Given the description of an element on the screen output the (x, y) to click on. 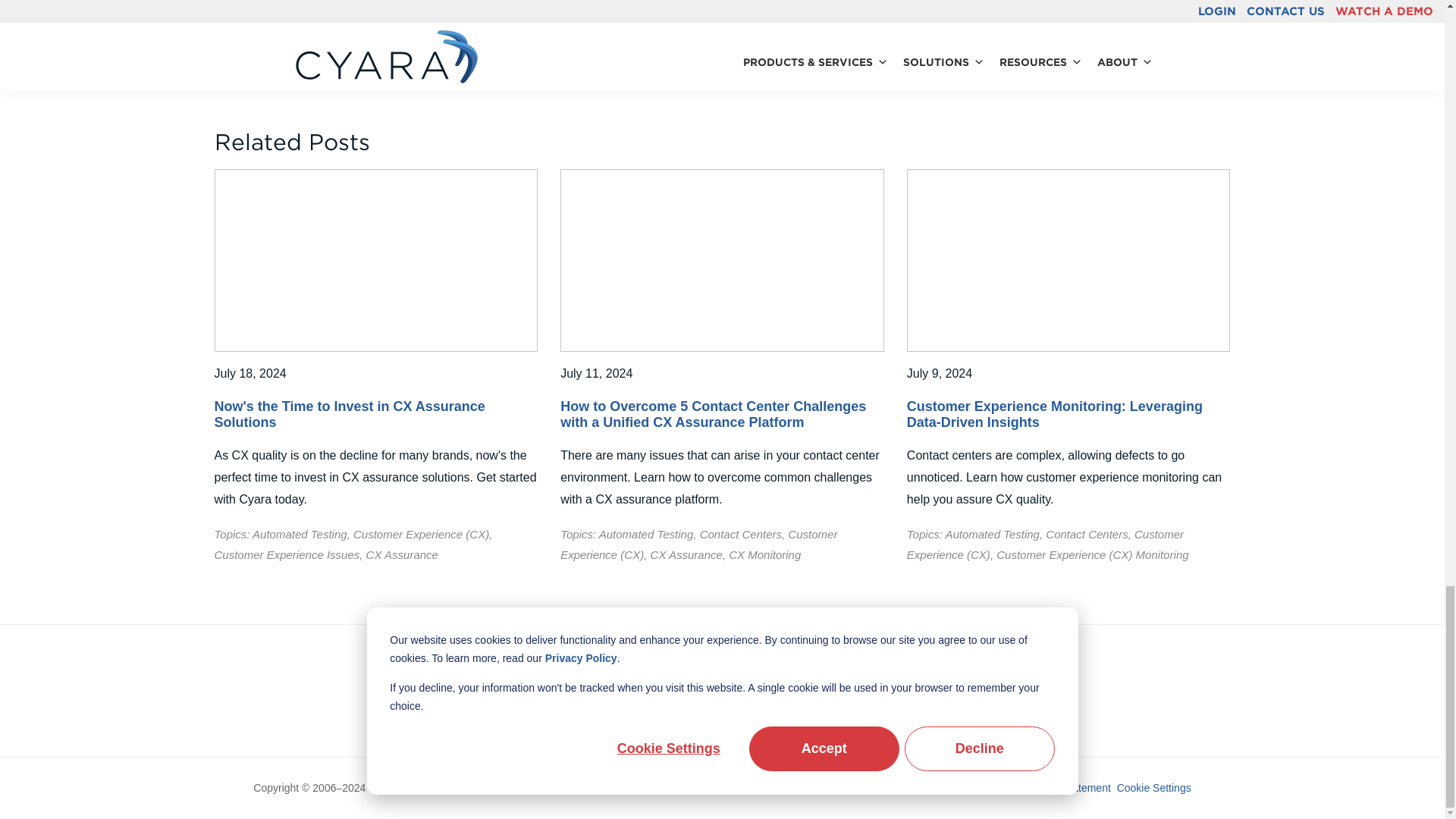
CX Metrics (600, 10)
Sev1 (800, 33)
Regression Testing (723, 33)
Load Testing (500, 33)
IVR testing (425, 33)
CX Monitoring (681, 10)
Customer Experience Issues (479, 10)
Performance Testing (603, 33)
